Given the description of an element on the screen output the (x, y) to click on. 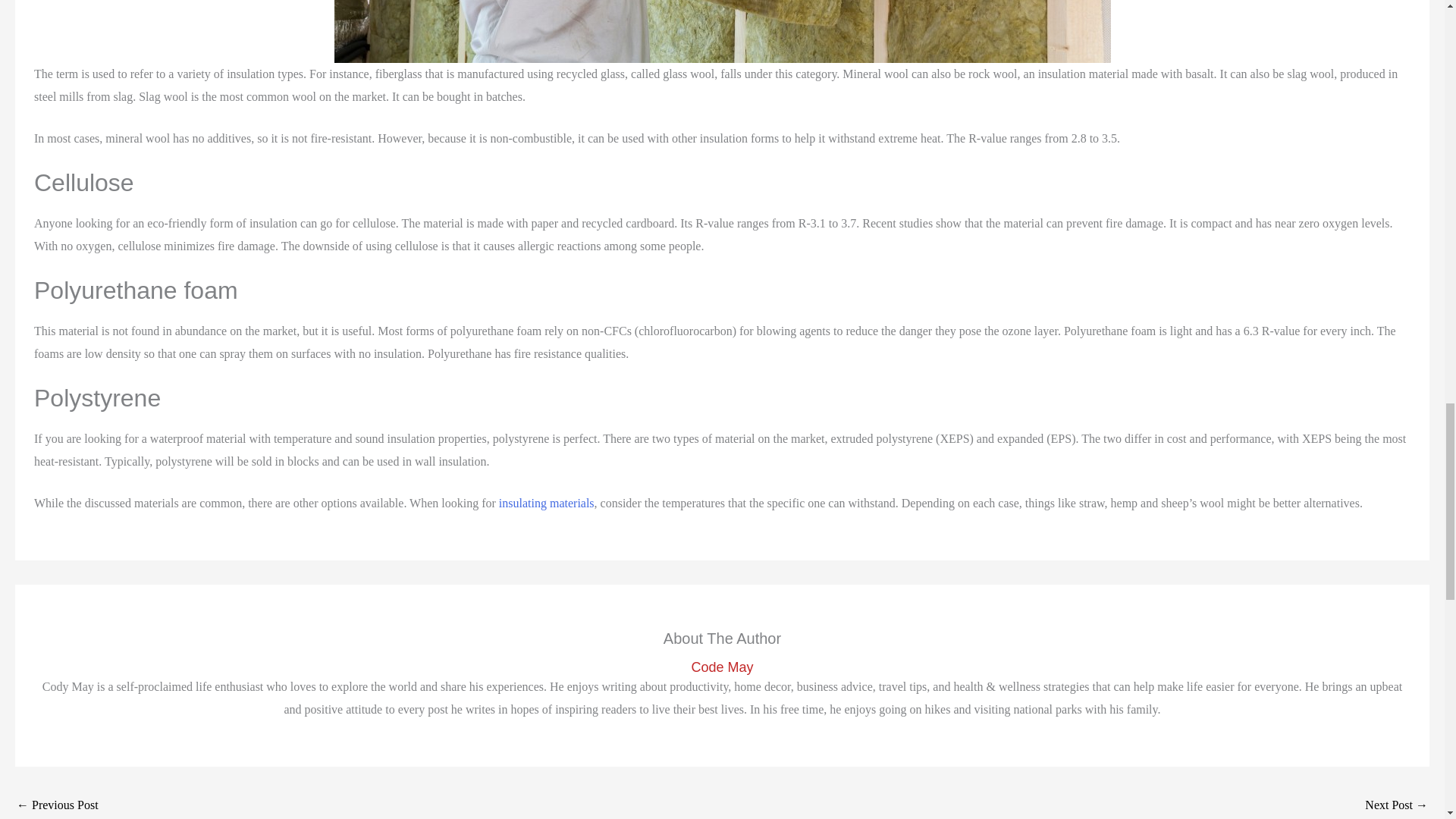
insulating materials (546, 502)
Kids and Sports: Why Get Children Interested in Sports? (1396, 805)
Forbes (546, 502)
Code May (721, 667)
